Given the description of an element on the screen output the (x, y) to click on. 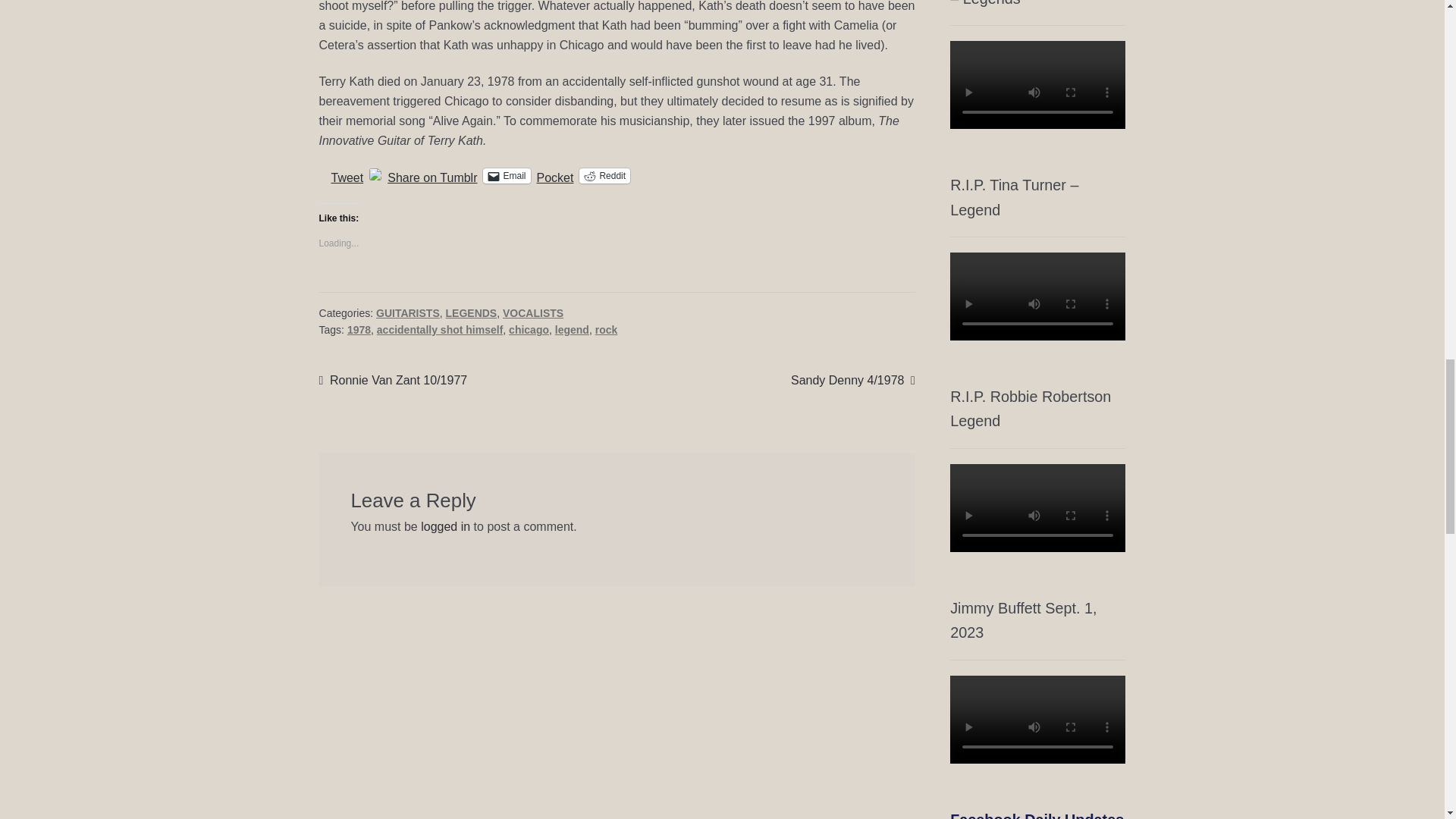
Click to email a link to a friend (506, 175)
Share on Tumblr (432, 174)
Click to share on Reddit (604, 175)
